Given the description of an element on the screen output the (x, y) to click on. 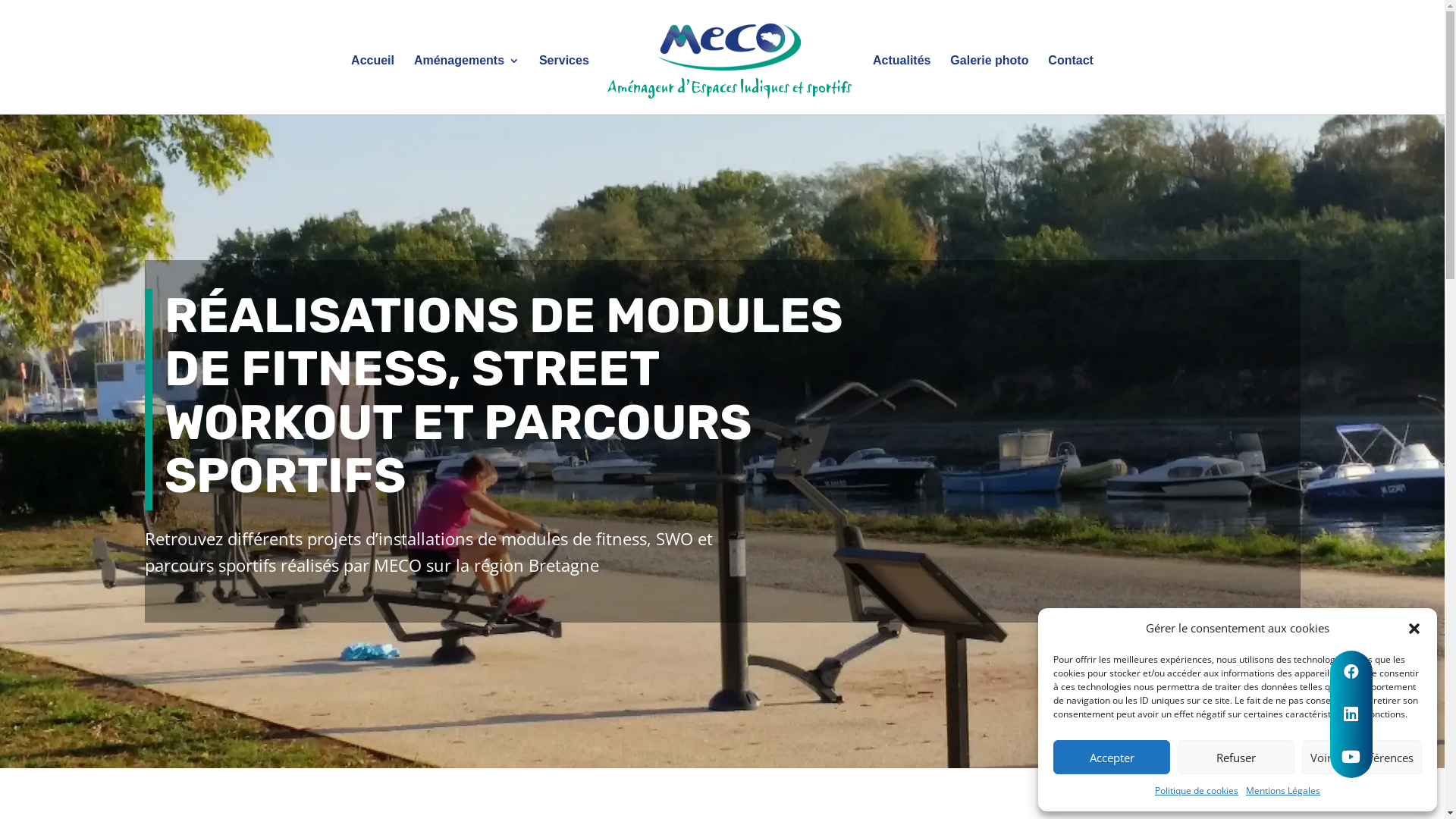
Refuser Element type: text (1235, 757)
Accueil Element type: text (372, 84)
Galerie photo Element type: text (989, 84)
Politique de cookies Element type: text (1196, 790)
Accepter Element type: text (1111, 757)
Contact Element type: text (1070, 84)
Services Element type: text (564, 84)
